Given the description of an element on the screen output the (x, y) to click on. 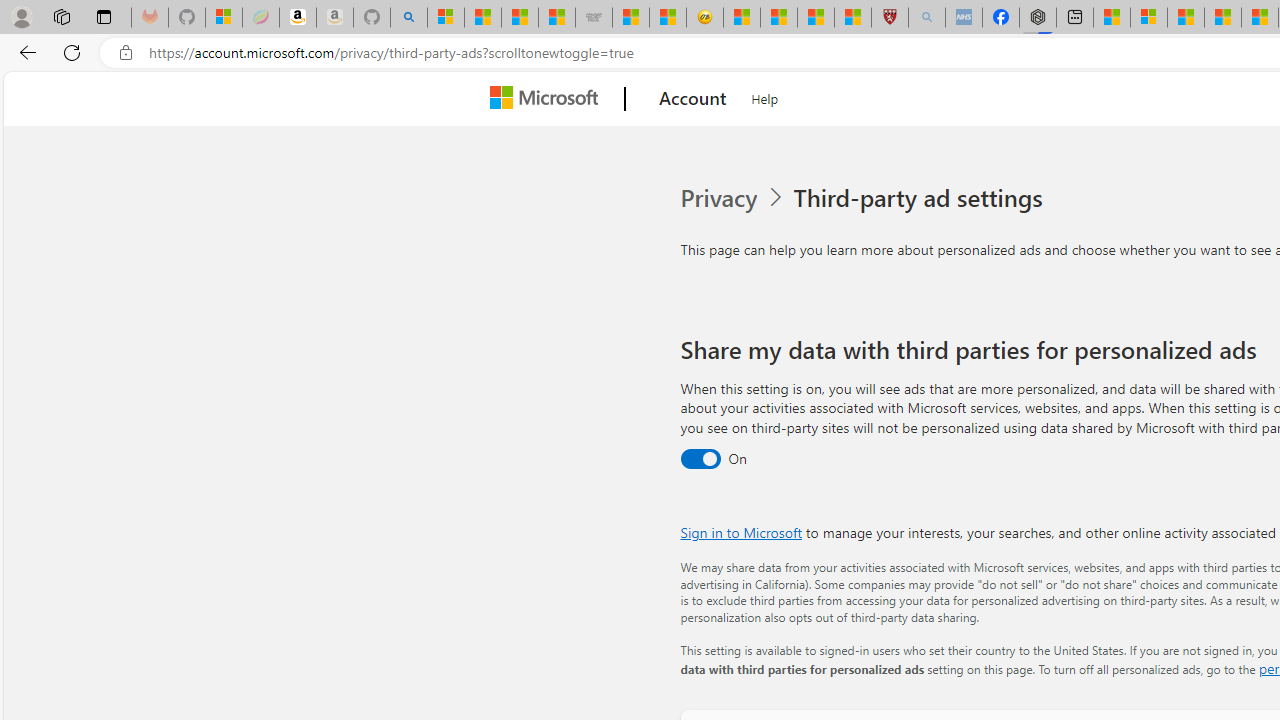
Help (765, 96)
Microsoft (548, 99)
12 Popular Science Lies that Must be Corrected (852, 17)
Account (692, 99)
